Given the description of an element on the screen output the (x, y) to click on. 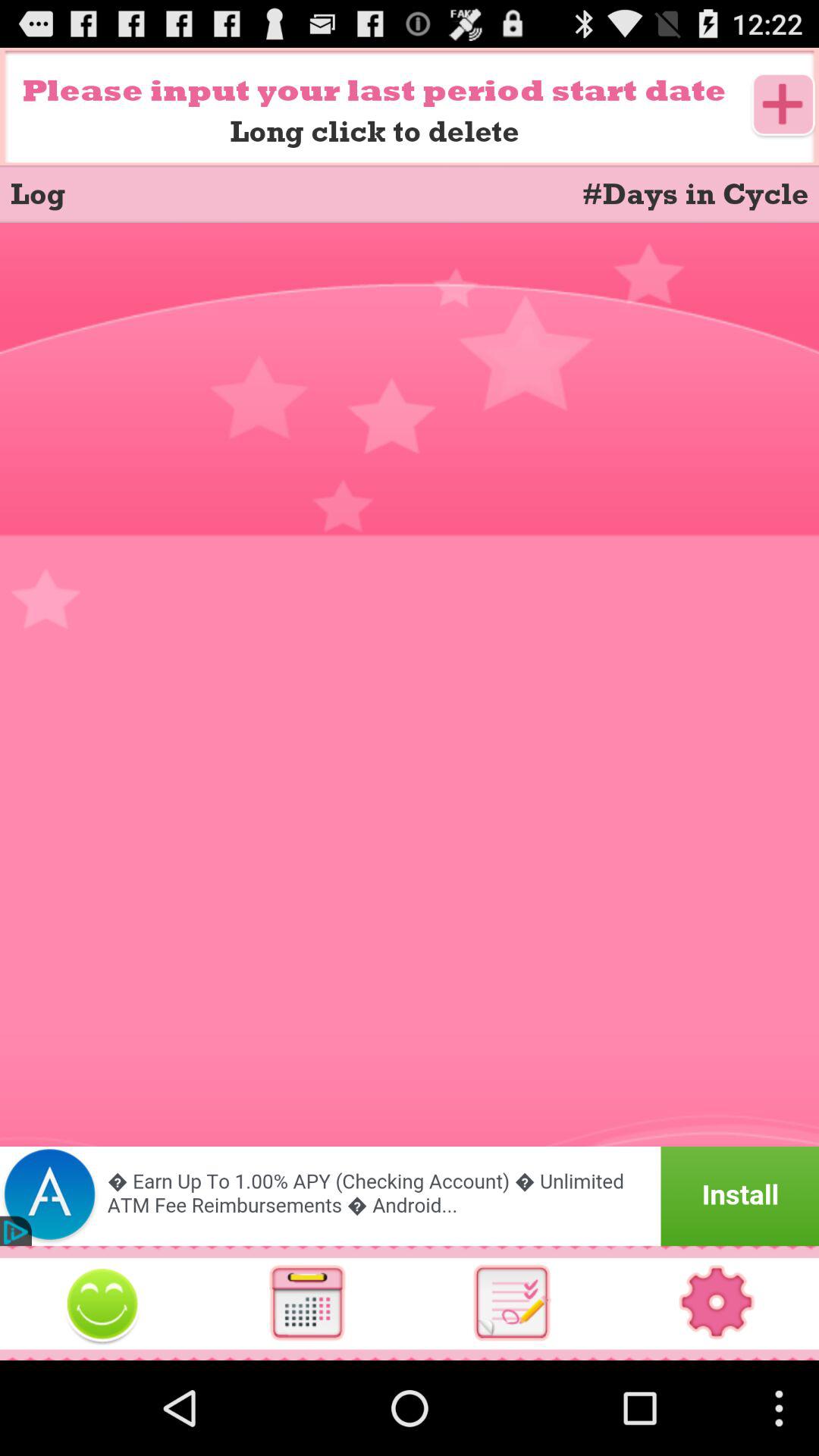
open calculator (306, 1302)
